Given the description of an element on the screen output the (x, y) to click on. 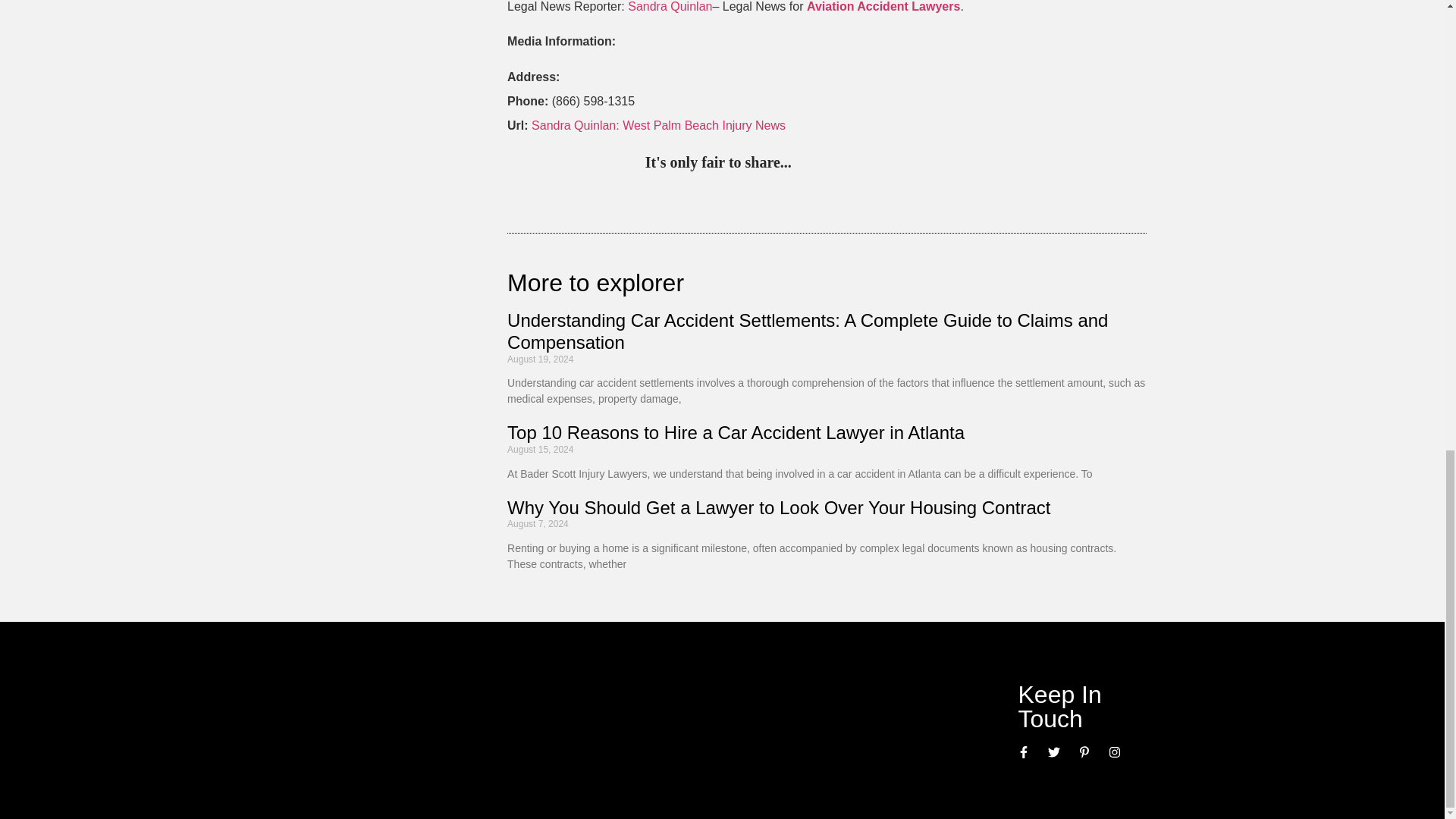
facebook (931, 163)
Aviation Accident Lawyers (882, 6)
Top 10 Reasons to Hire a Car Accident Lawyer in Atlanta (734, 432)
google (900, 163)
print (993, 163)
Sandra Quinlan: West Palm Beach Injury News (658, 124)
email (962, 163)
pinterest (807, 163)
